Given the description of an element on the screen output the (x, y) to click on. 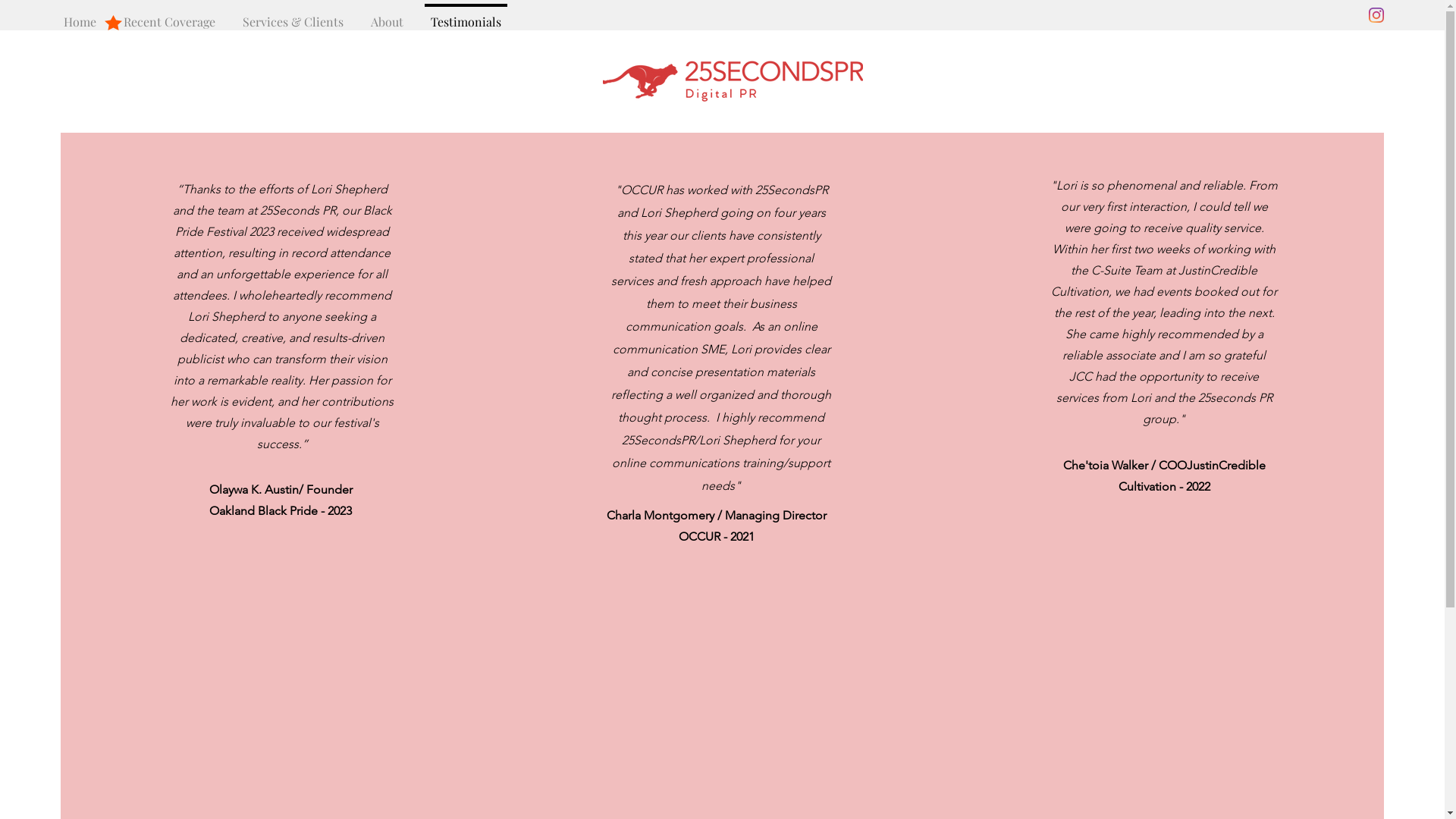
Home Element type: text (79, 14)
Testimonials Element type: text (465, 14)
Services & Clients Element type: text (293, 14)
Recent Coverage Element type: text (169, 14)
About Element type: text (387, 14)
